Given the description of an element on the screen output the (x, y) to click on. 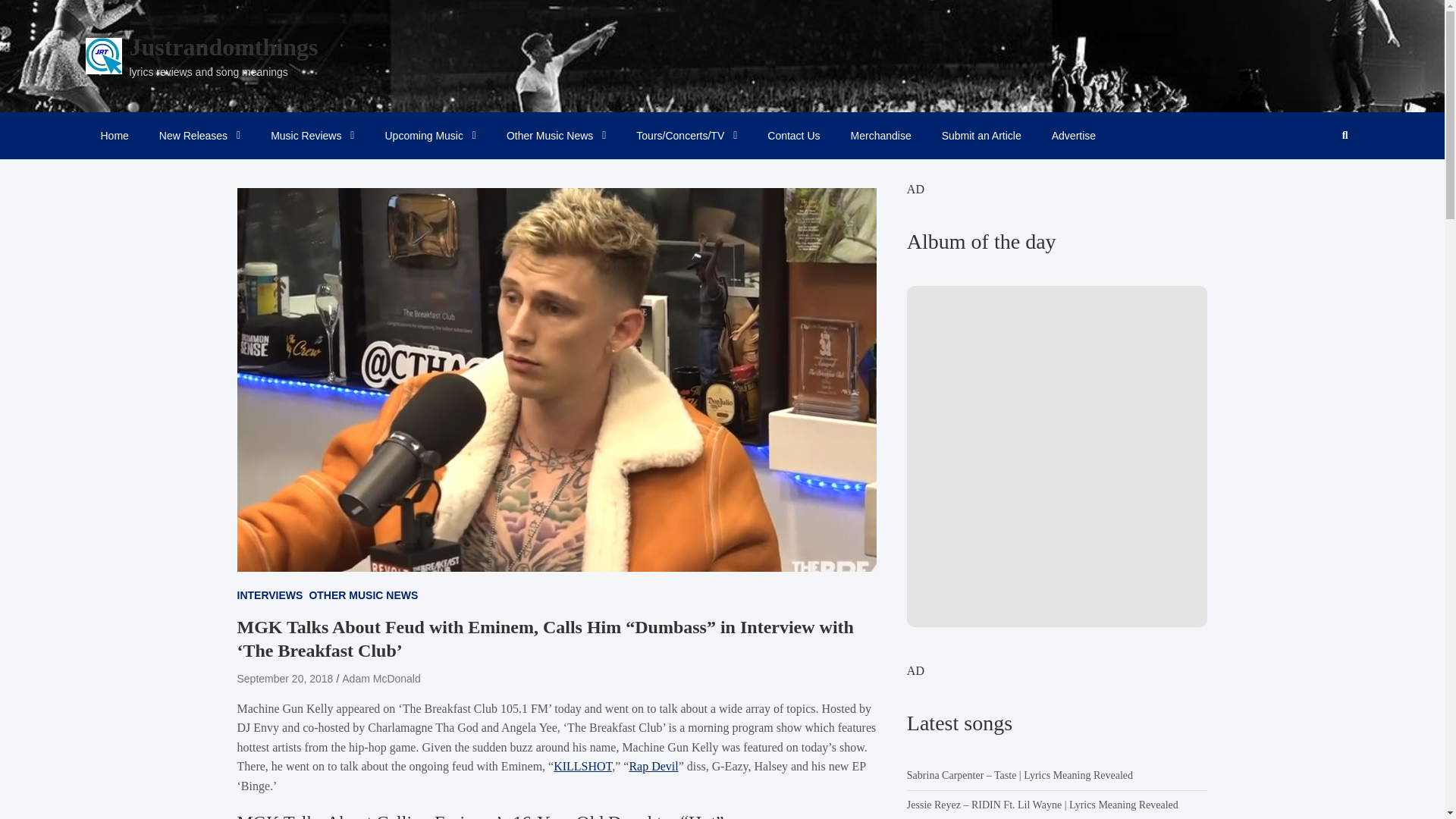
Upcoming Music (429, 135)
New Releases (200, 135)
Other Music News (556, 135)
Home Page (113, 135)
Justrandomthings (223, 46)
Music Reviews (312, 135)
Home (113, 135)
